Given the description of an element on the screen output the (x, y) to click on. 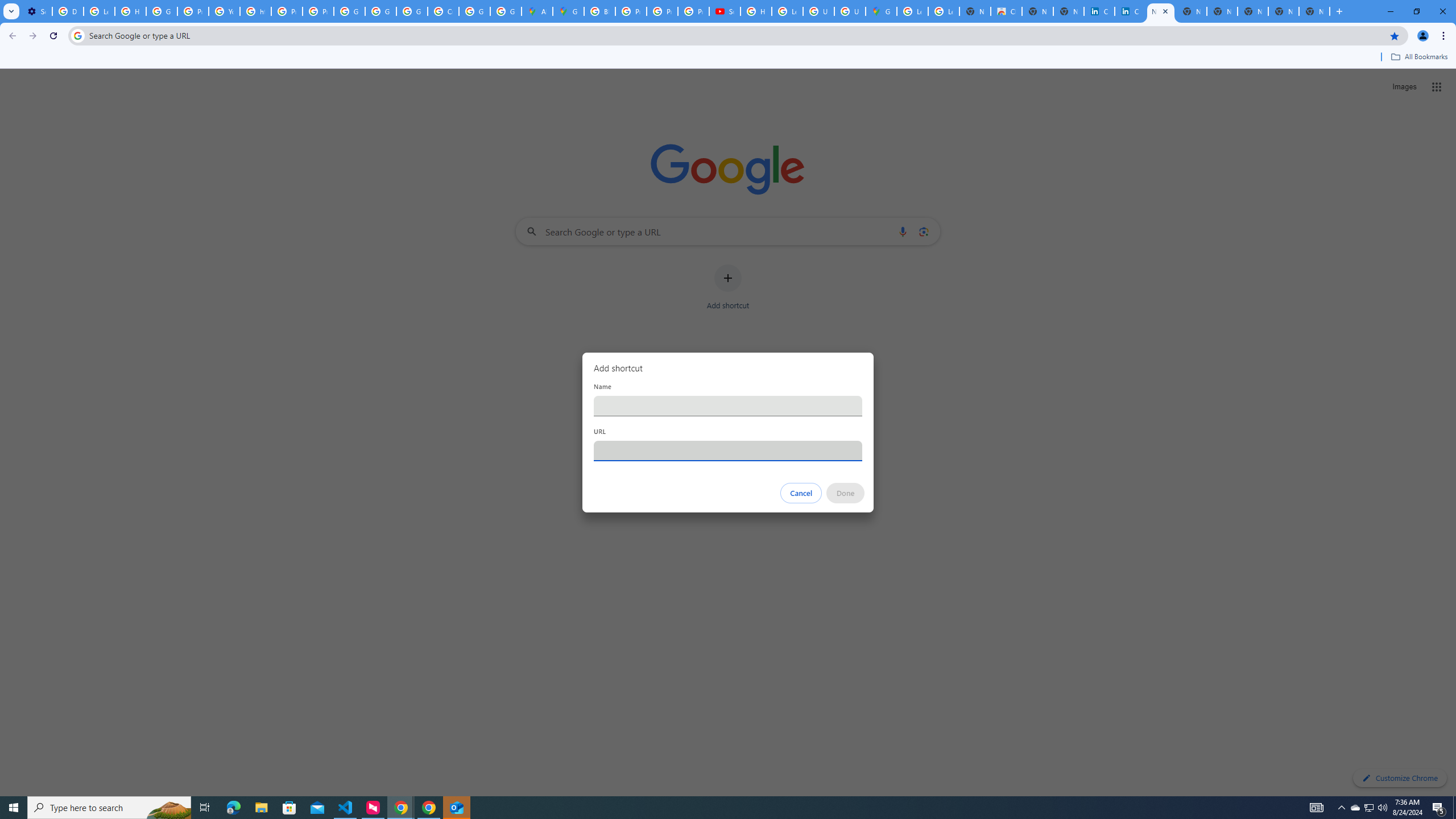
Search tabs (10, 11)
Name (727, 405)
Subscriptions - YouTube (724, 11)
Back (10, 35)
Google Maps (568, 11)
Forward (32, 35)
Minimize (1390, 11)
All Bookmarks (1418, 56)
